Given the description of an element on the screen output the (x, y) to click on. 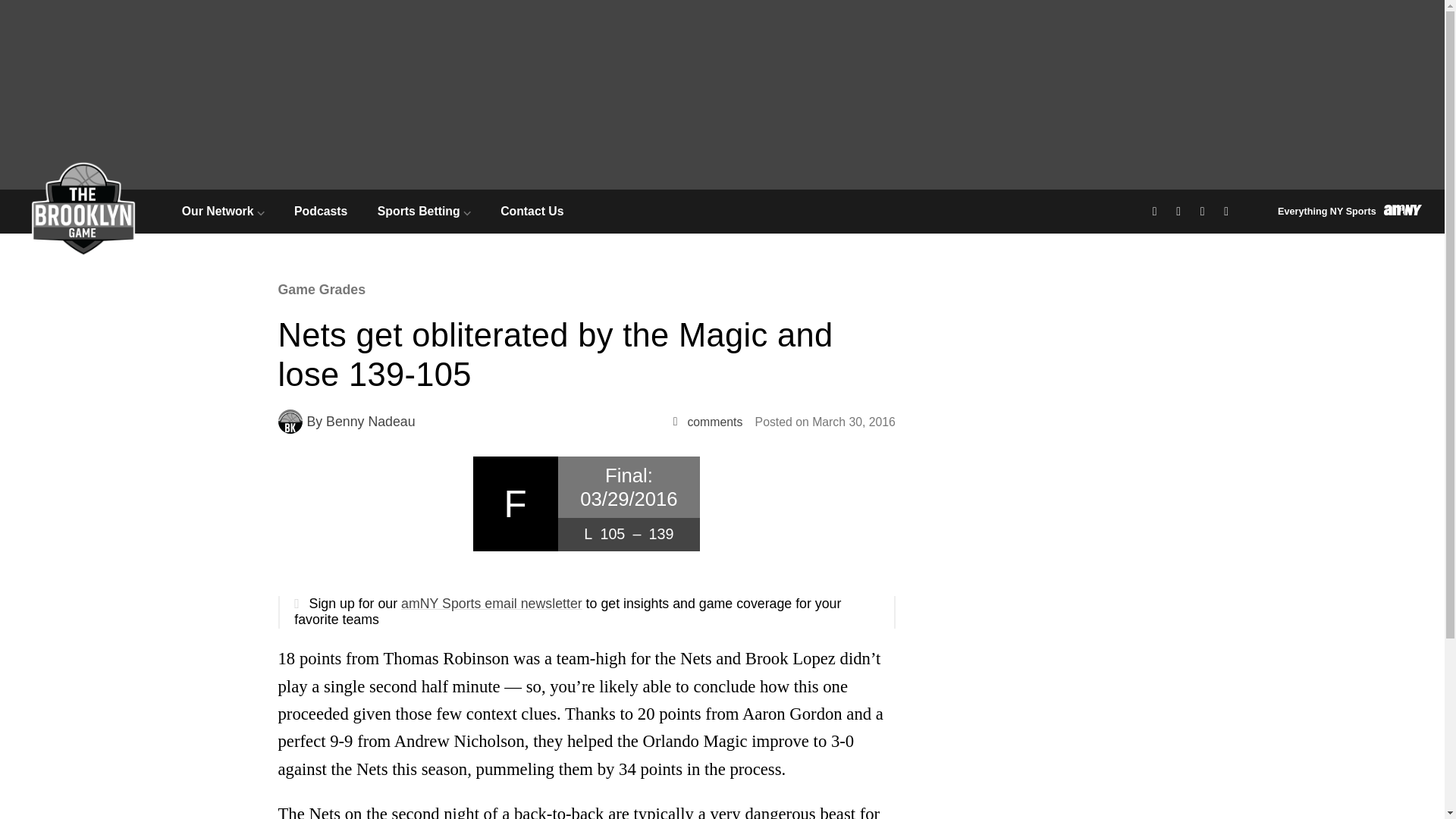
Podcasts (320, 210)
Contact Us (531, 210)
Everything NY Sports (1350, 210)
Our Network (223, 210)
Posts by Benny Nadeau (370, 421)
Sports Betting (423, 210)
